Given the description of an element on the screen output the (x, y) to click on. 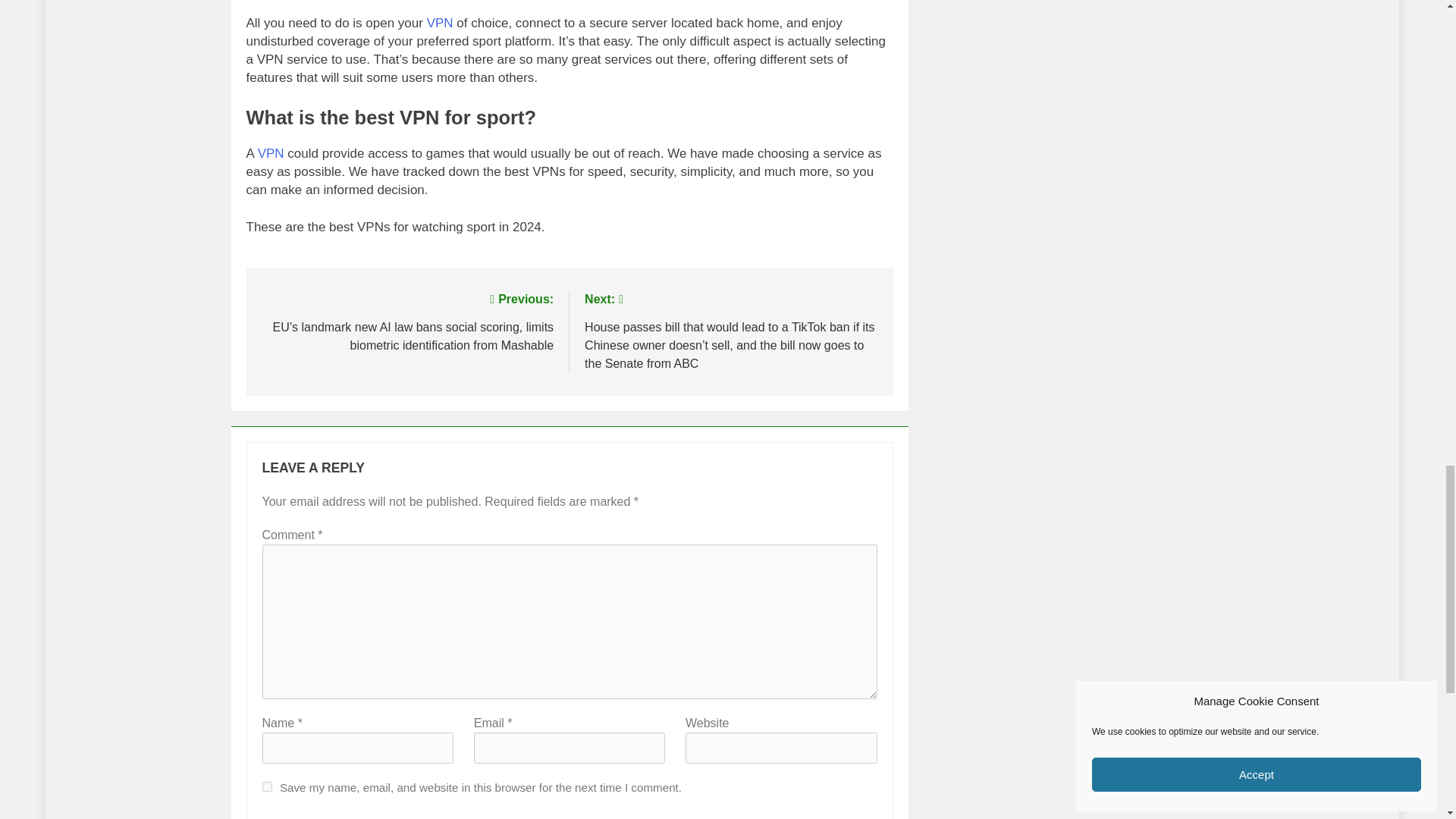
yes (267, 786)
